Given the description of an element on the screen output the (x, y) to click on. 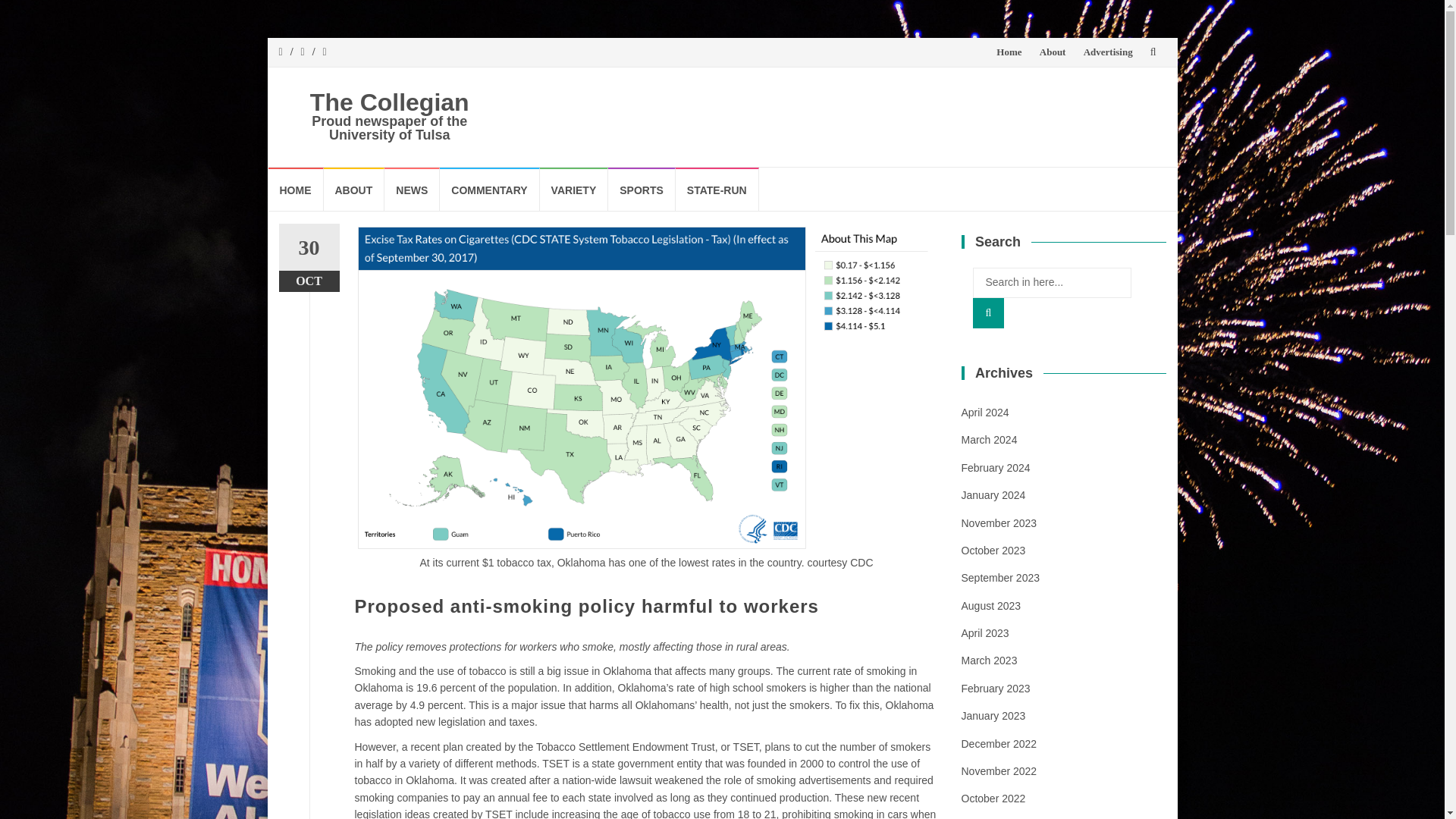
The Collegian (389, 102)
HOME (295, 188)
SPORTS (641, 188)
Search for: (1051, 282)
ABOUT (353, 188)
About (1052, 51)
NEWS (411, 188)
Search (988, 313)
COMMENTARY (488, 188)
Advertising (1107, 51)
VARIETY (574, 188)
